Given the description of an element on the screen output the (x, y) to click on. 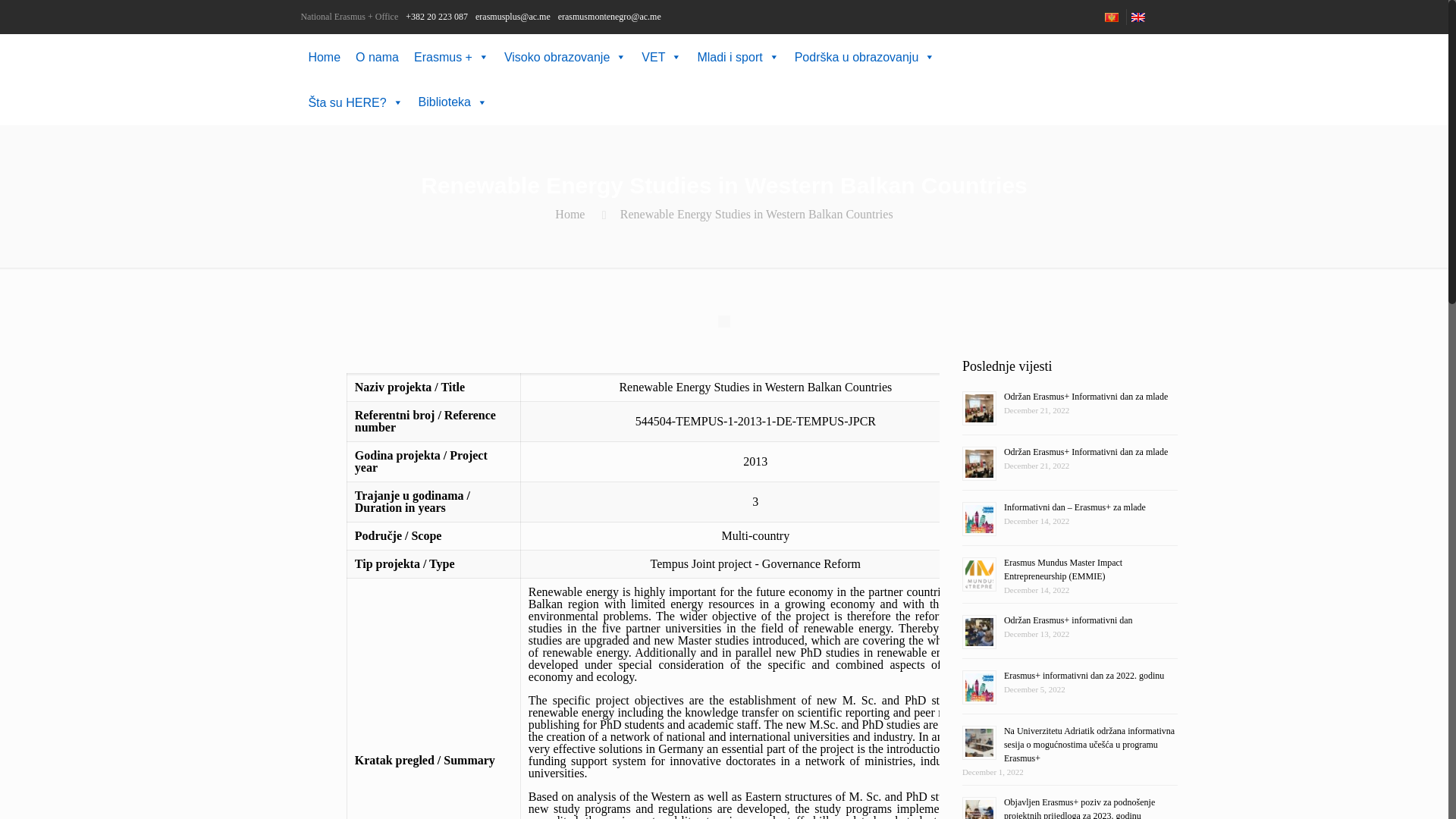
VET (660, 56)
Home (323, 56)
Mladi i sport (737, 56)
Biblioteka (452, 102)
English (1137, 17)
Visoko obrazovanje (564, 56)
O nama (376, 56)
Crnogorski (1111, 17)
